Given the description of an element on the screen output the (x, y) to click on. 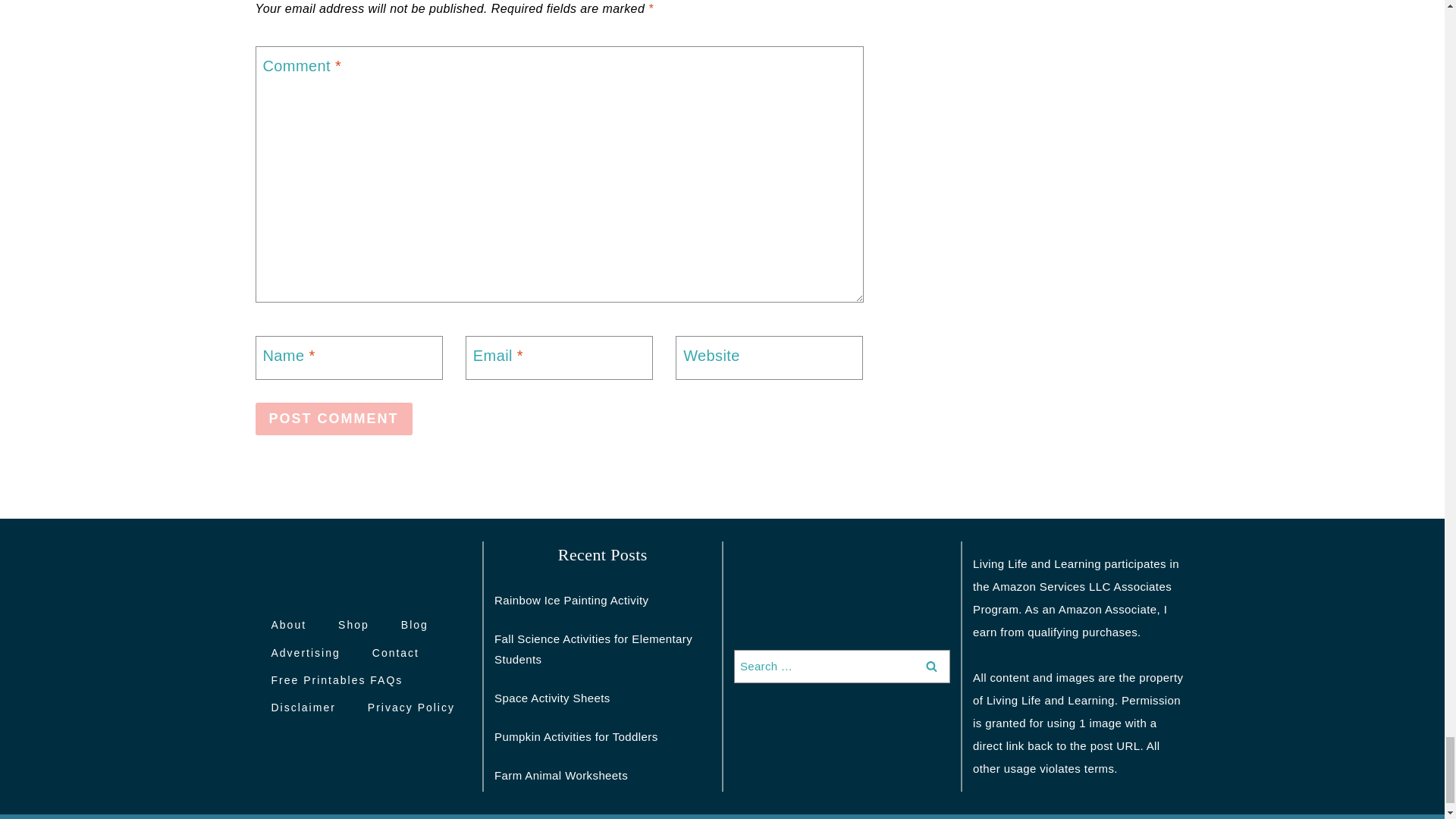
Post Comment (333, 418)
Search (931, 666)
Search (931, 666)
